Given the description of an element on the screen output the (x, y) to click on. 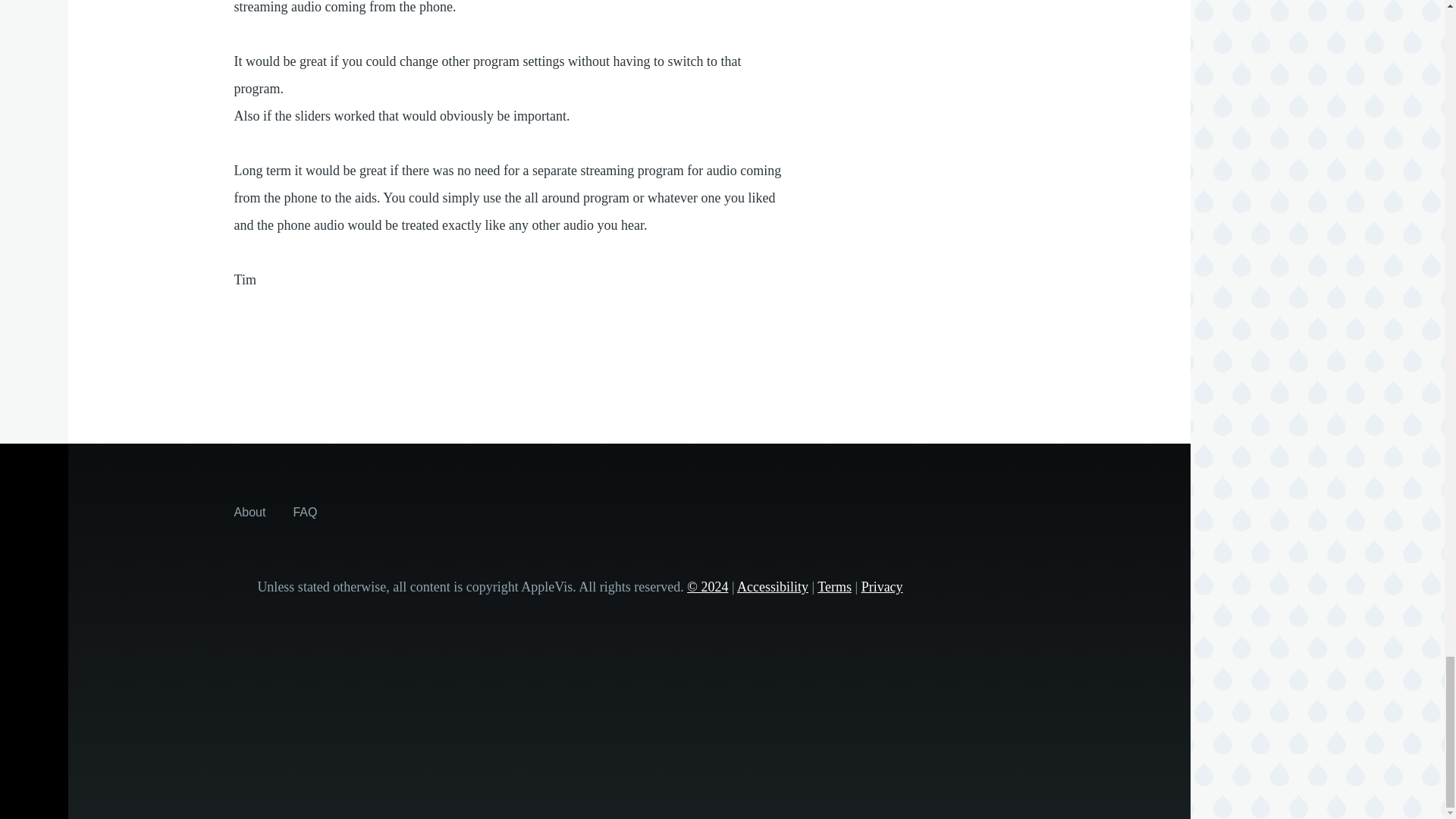
Answers to some frequently asked questions about AppleVis (304, 511)
Terms (833, 586)
FAQ (304, 511)
About (250, 511)
Privacy (881, 586)
About (250, 511)
Accessibility (772, 586)
